Given the description of an element on the screen output the (x, y) to click on. 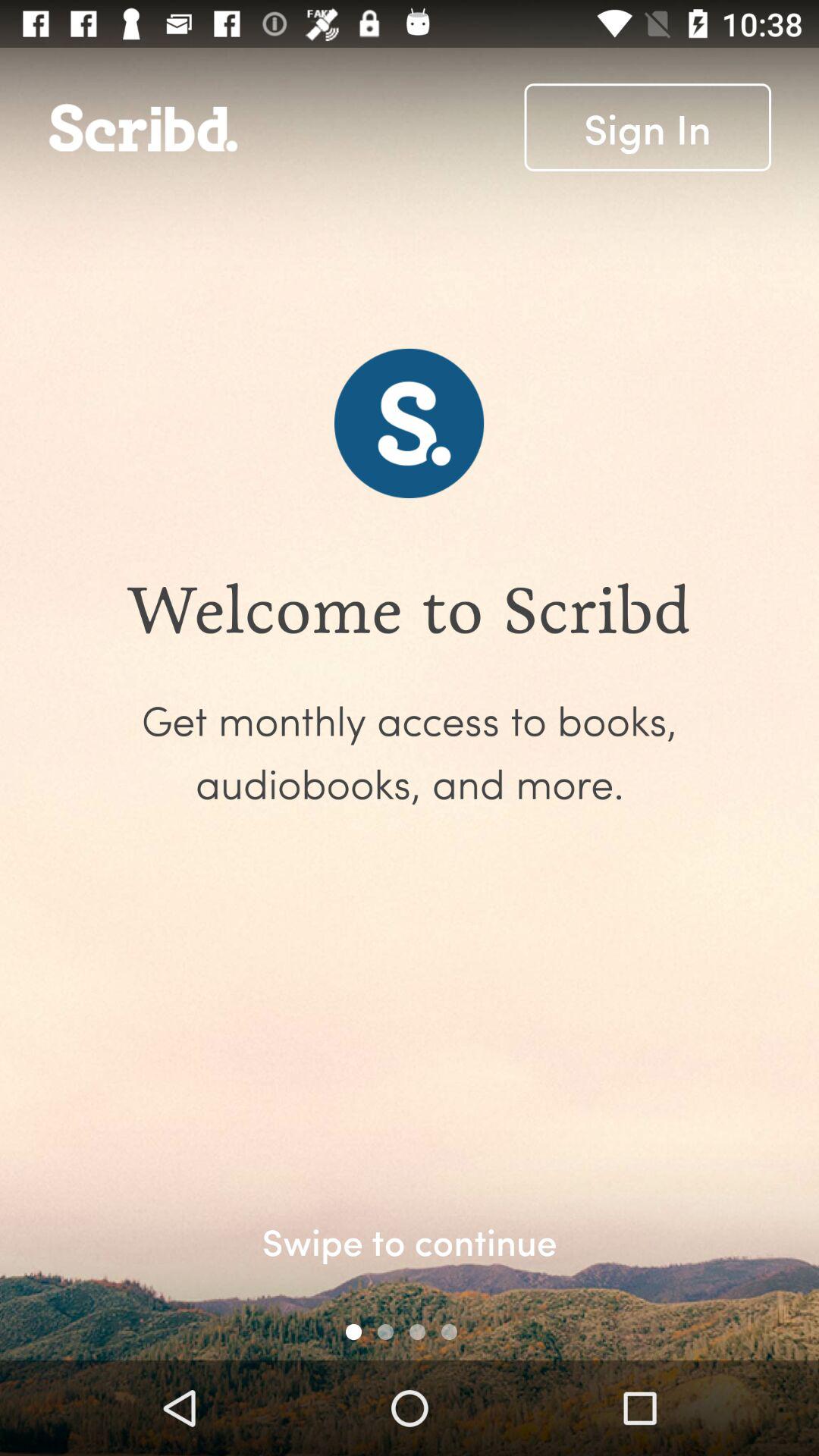
open the item above welcome to scribd item (647, 127)
